Given the description of an element on the screen output the (x, y) to click on. 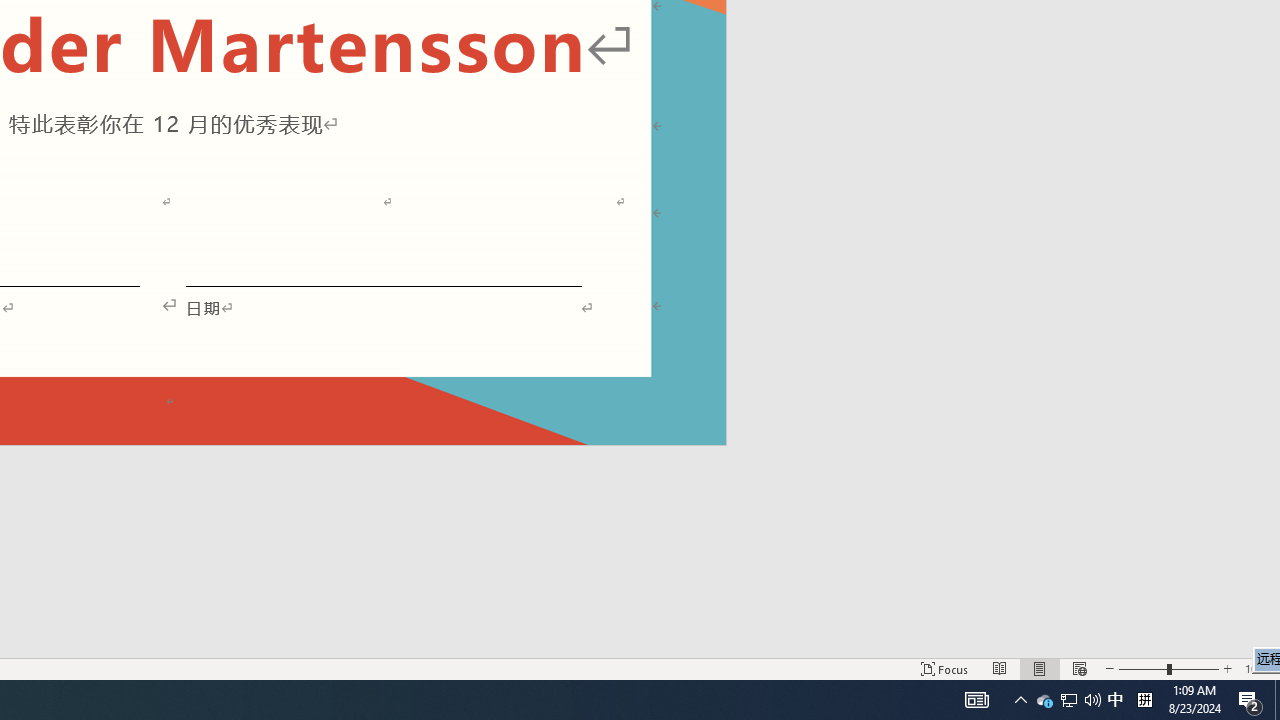
Read Mode (1000, 668)
Zoom Out (1142, 668)
Print Layout (1039, 668)
Focus  (944, 668)
Web Layout (1079, 668)
Zoom (1168, 668)
Zoom In (1227, 668)
Zoom 100% (1258, 668)
